Given the description of an element on the screen output the (x, y) to click on. 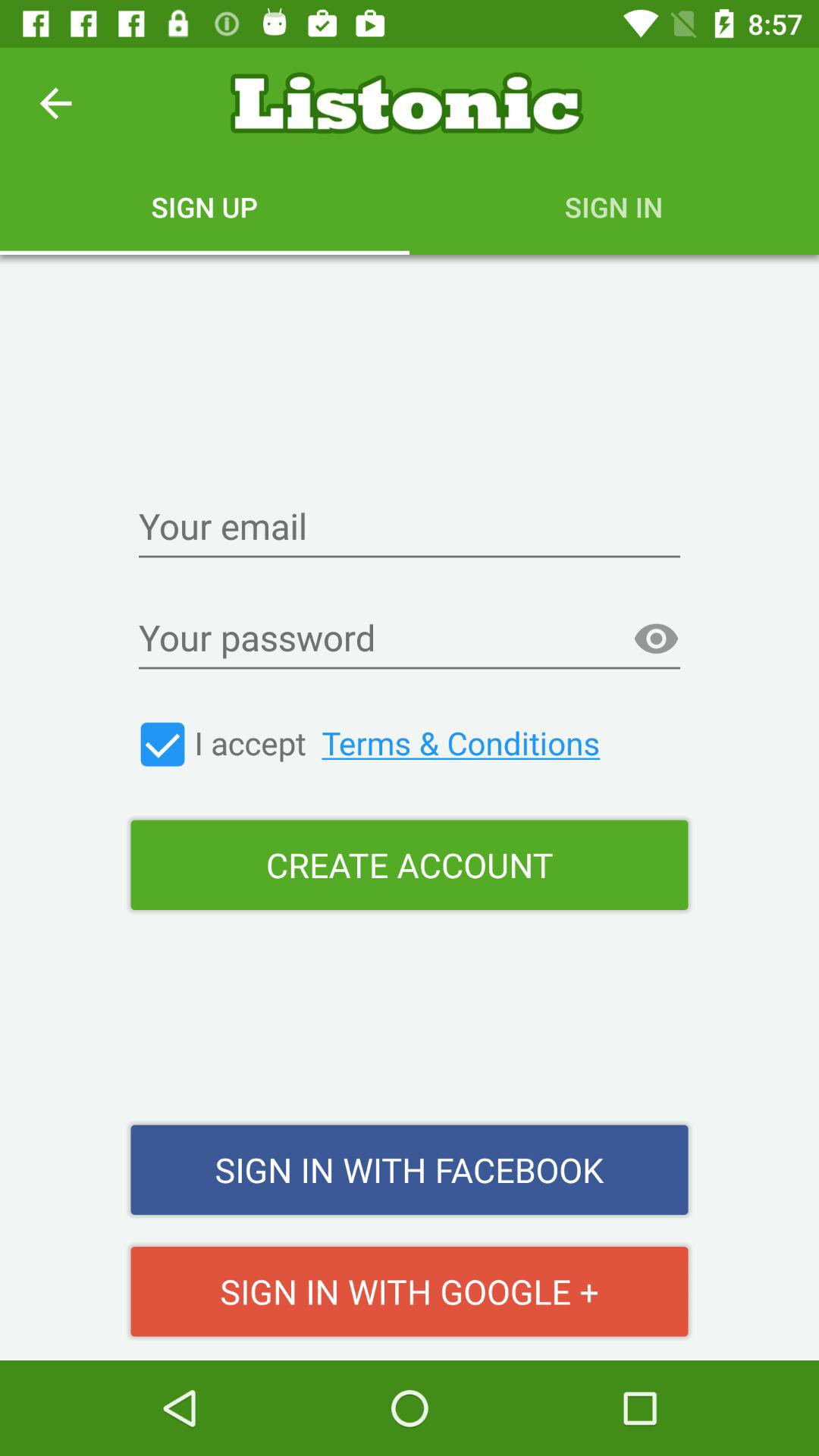
flip until create account item (409, 865)
